Given the description of an element on the screen output the (x, y) to click on. 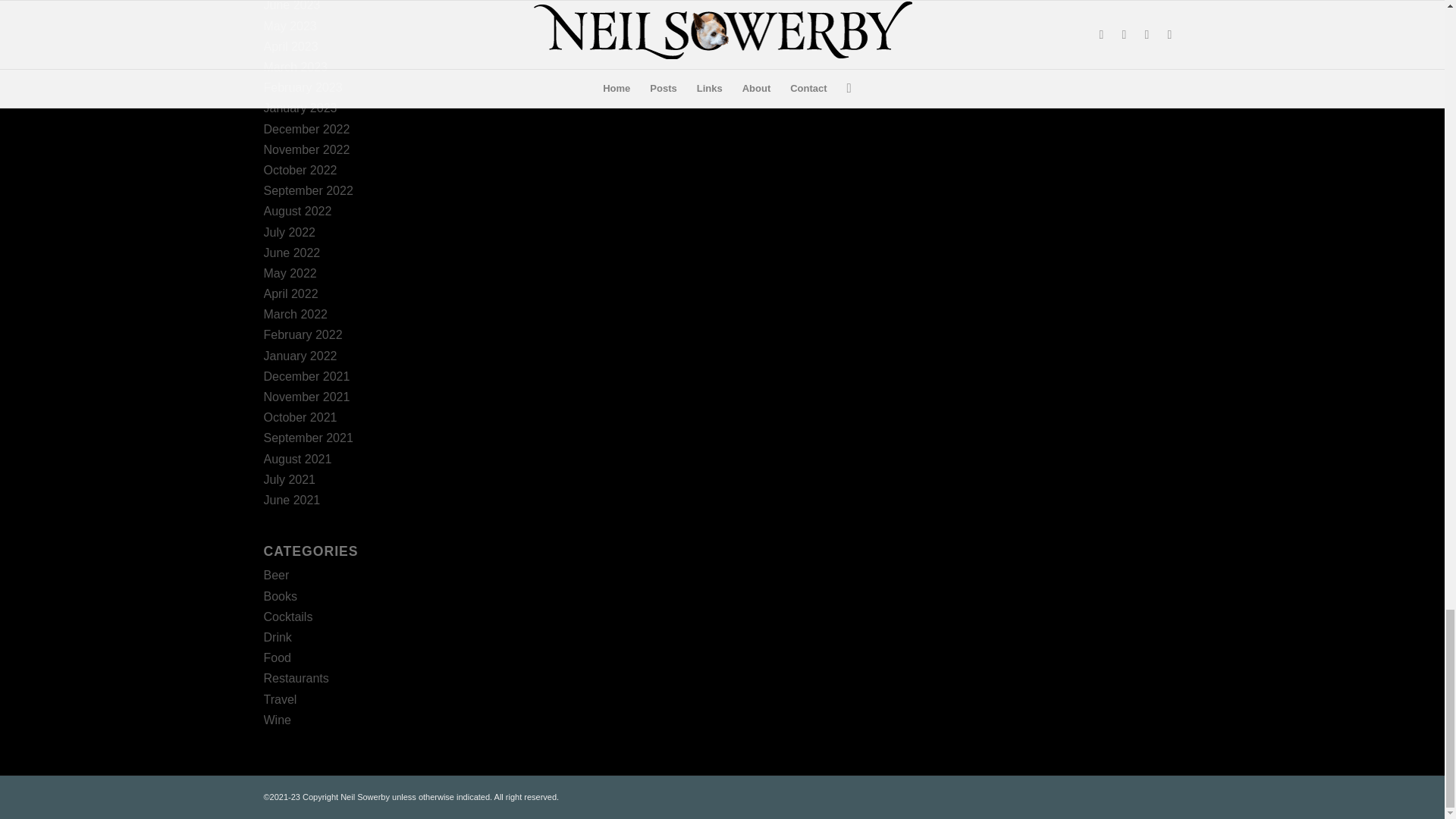
May 2023 (290, 25)
January 2023 (300, 107)
November 2022 (306, 149)
April 2023 (290, 46)
December 2022 (306, 128)
September 2022 (308, 190)
June 2023 (291, 5)
March 2023 (296, 66)
February 2023 (302, 87)
October 2022 (300, 169)
